Given the description of an element on the screen output the (x, y) to click on. 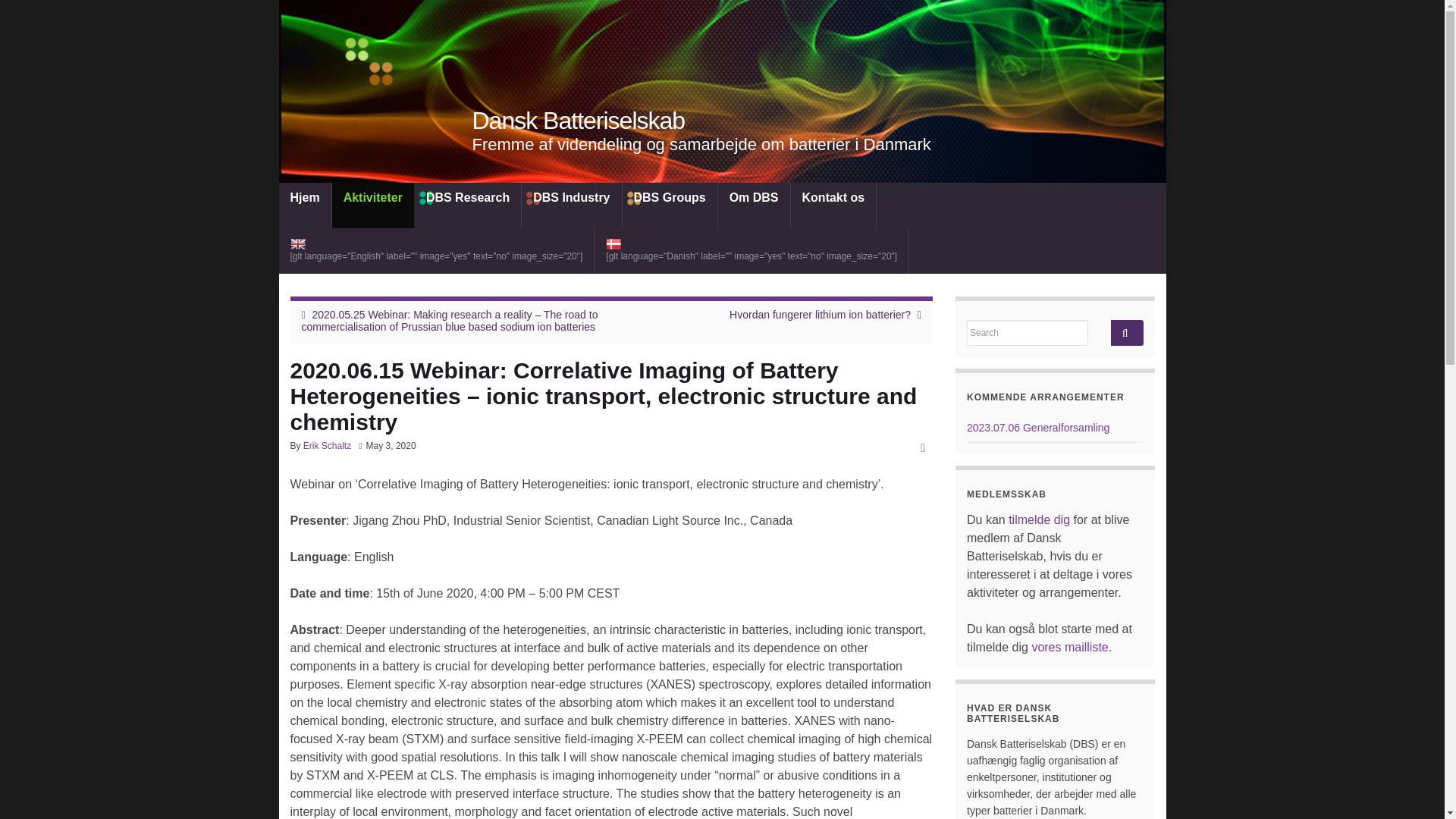
Danish (751, 250)
Dansk Batteriselskab (577, 120)
English (436, 250)
Hjem (305, 205)
Aktiviteter (372, 205)
Go back to the front page (577, 120)
